Given the description of an element on the screen output the (x, y) to click on. 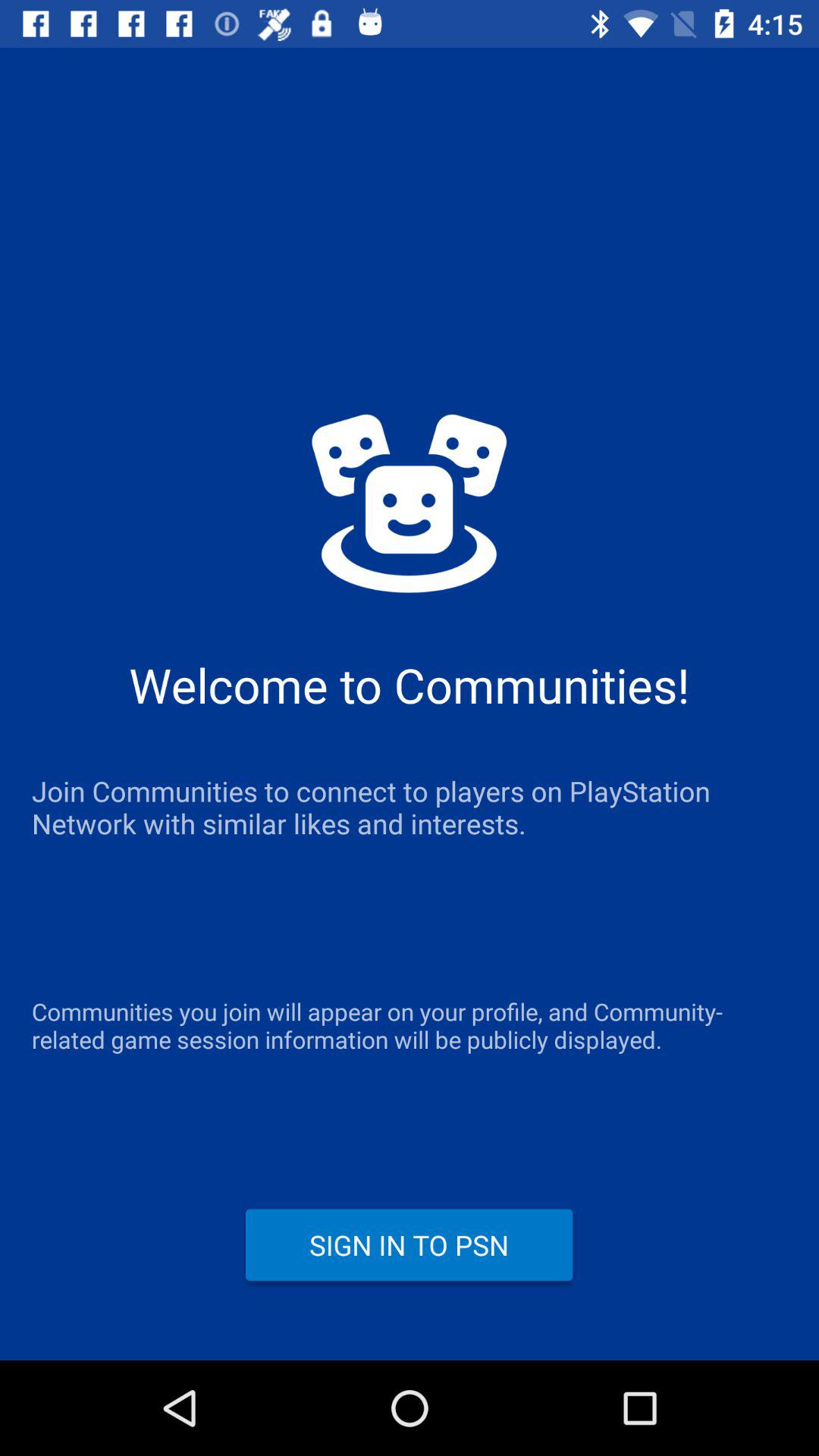
scroll until sign in to (408, 1244)
